Given the description of an element on the screen output the (x, y) to click on. 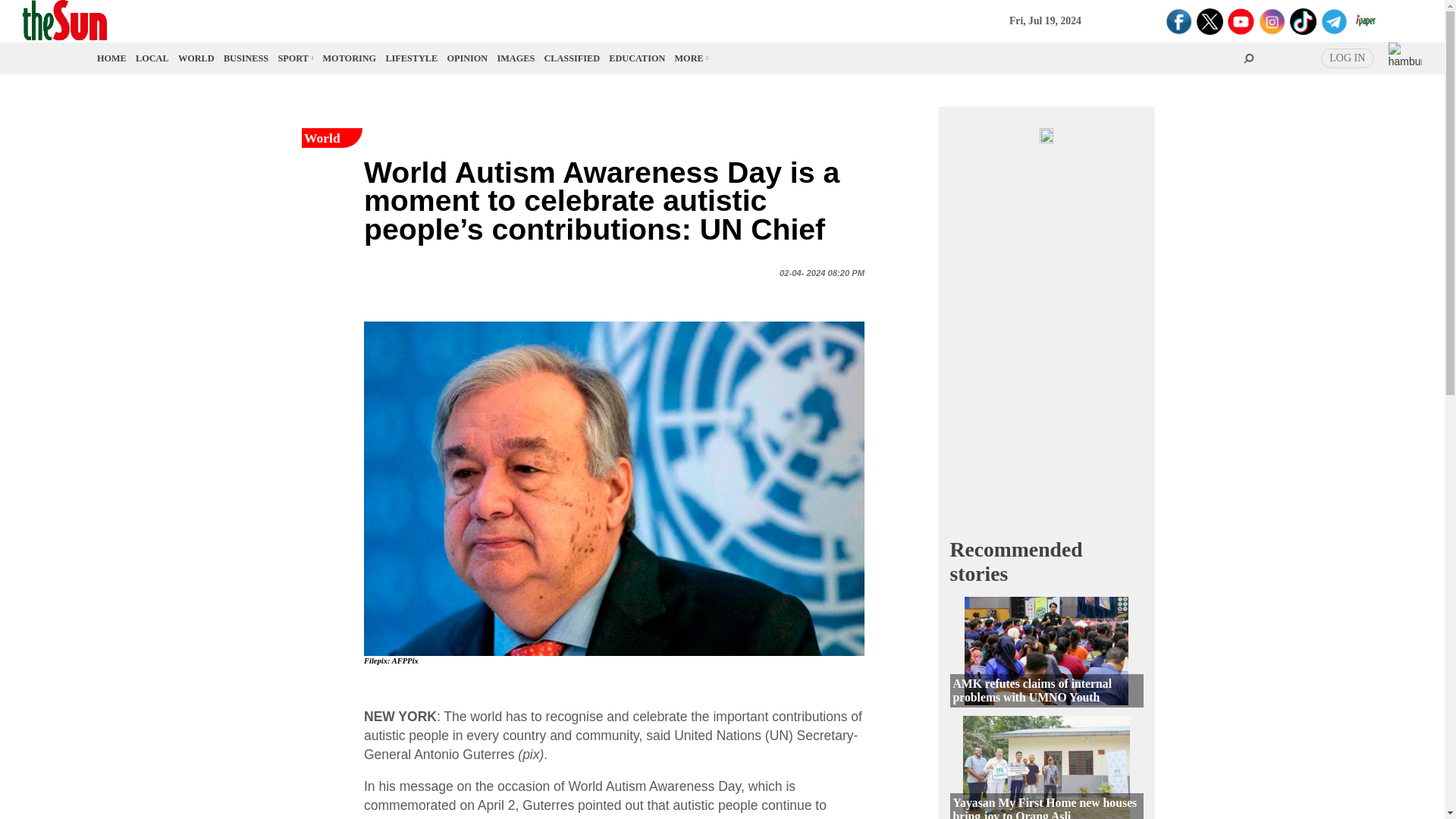
CLASSIFIED (571, 57)
OPINION (466, 57)
HOME (111, 57)
MOTORING (350, 57)
LOCAL (151, 57)
EDUCATION (636, 57)
Local (151, 57)
WORLD (195, 57)
LIFESTYLE (411, 57)
BUSINESS (245, 57)
MORE (690, 57)
IMAGES (516, 57)
LOG IN (1347, 57)
SPORT (294, 57)
Home (111, 57)
